Given the description of an element on the screen output the (x, y) to click on. 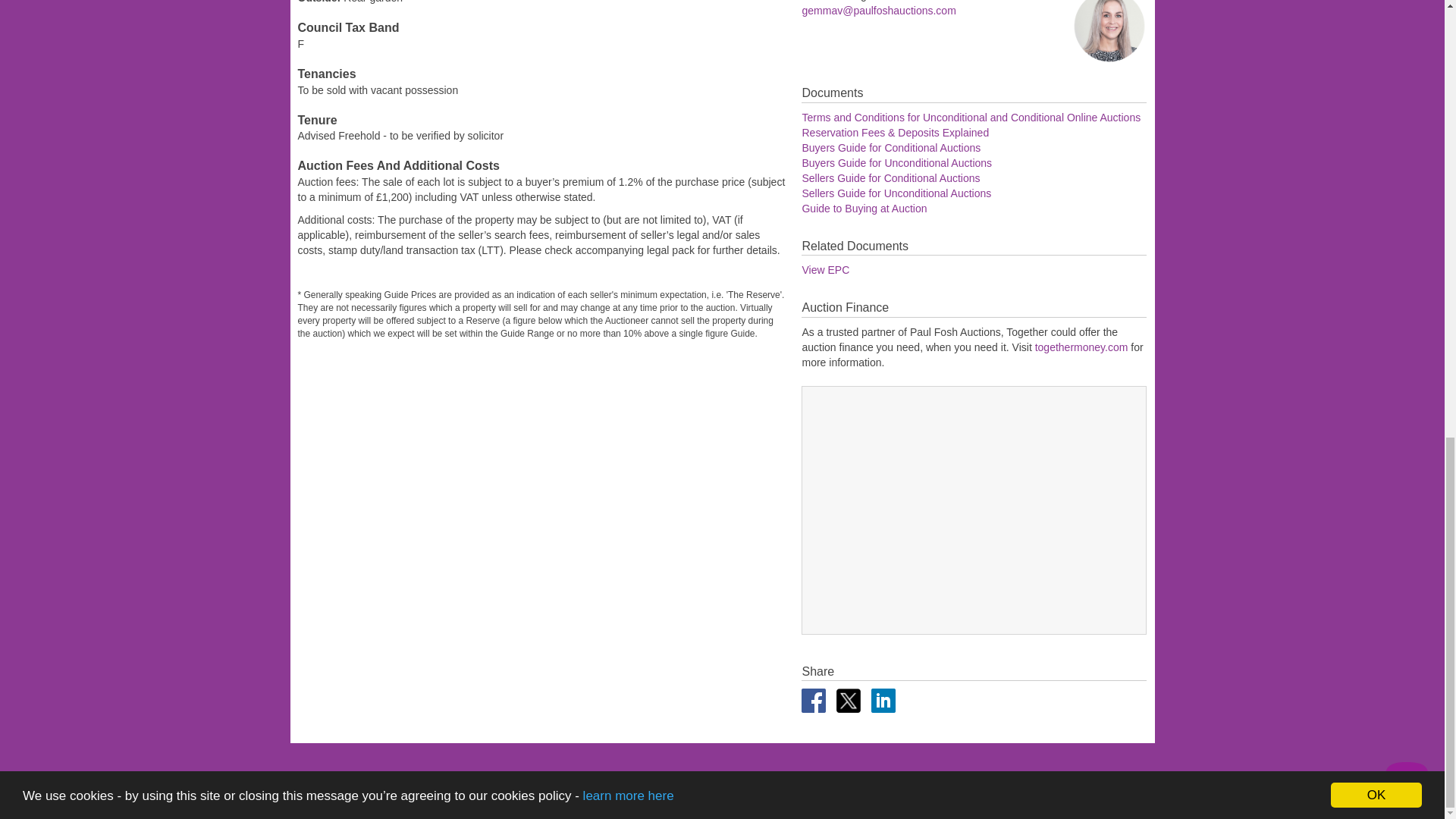
View the 'Guide to Buying at Auction' document. (864, 208)
Send an email (878, 10)
